Given the description of an element on the screen output the (x, y) to click on. 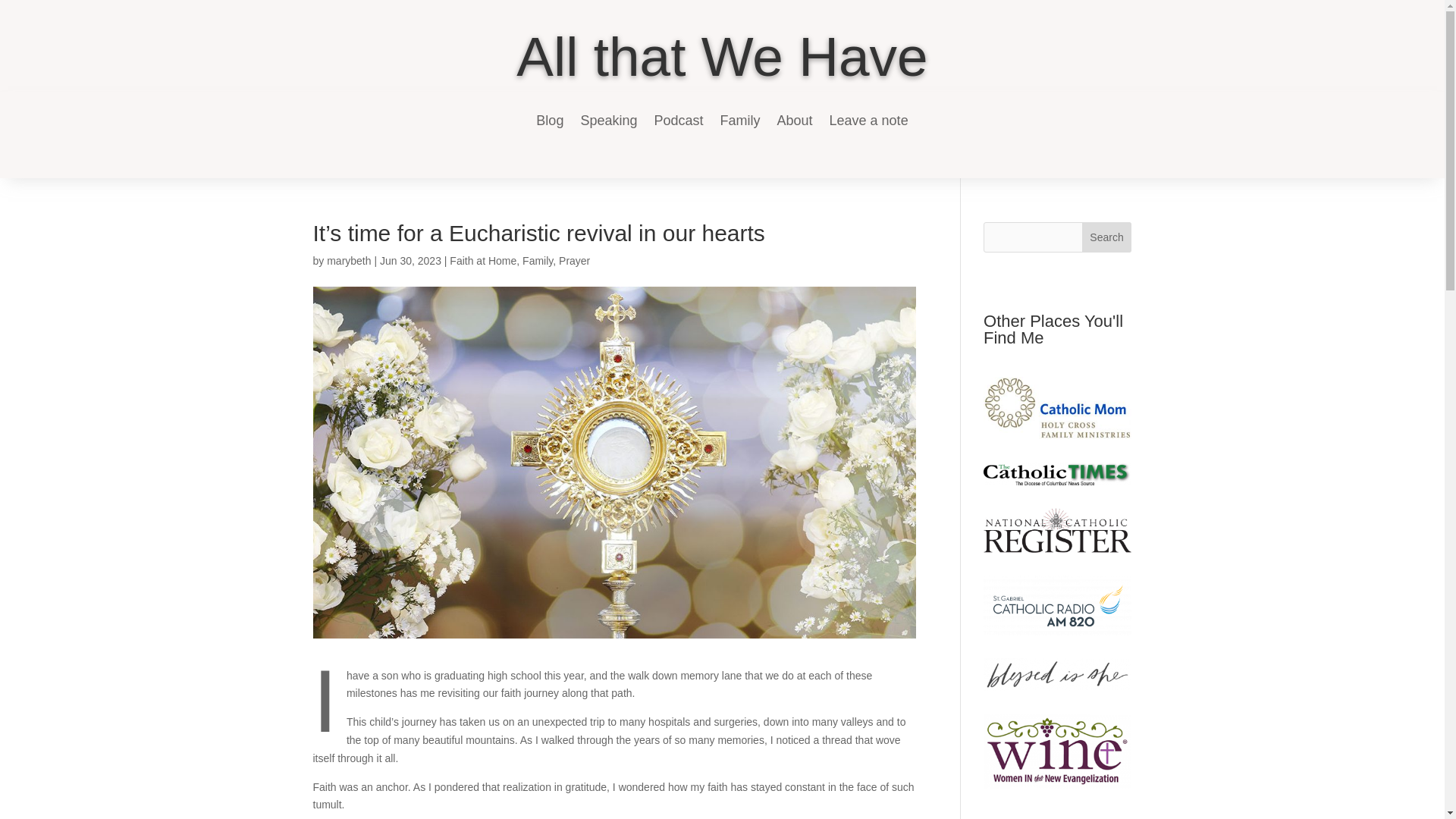
Speaking (608, 120)
Family (537, 260)
Posts by marybeth (348, 260)
Prayer (574, 260)
Faith at Home (482, 260)
marybeth (348, 260)
Search (1106, 236)
Leave a note (868, 120)
